Given the description of an element on the screen output the (x, y) to click on. 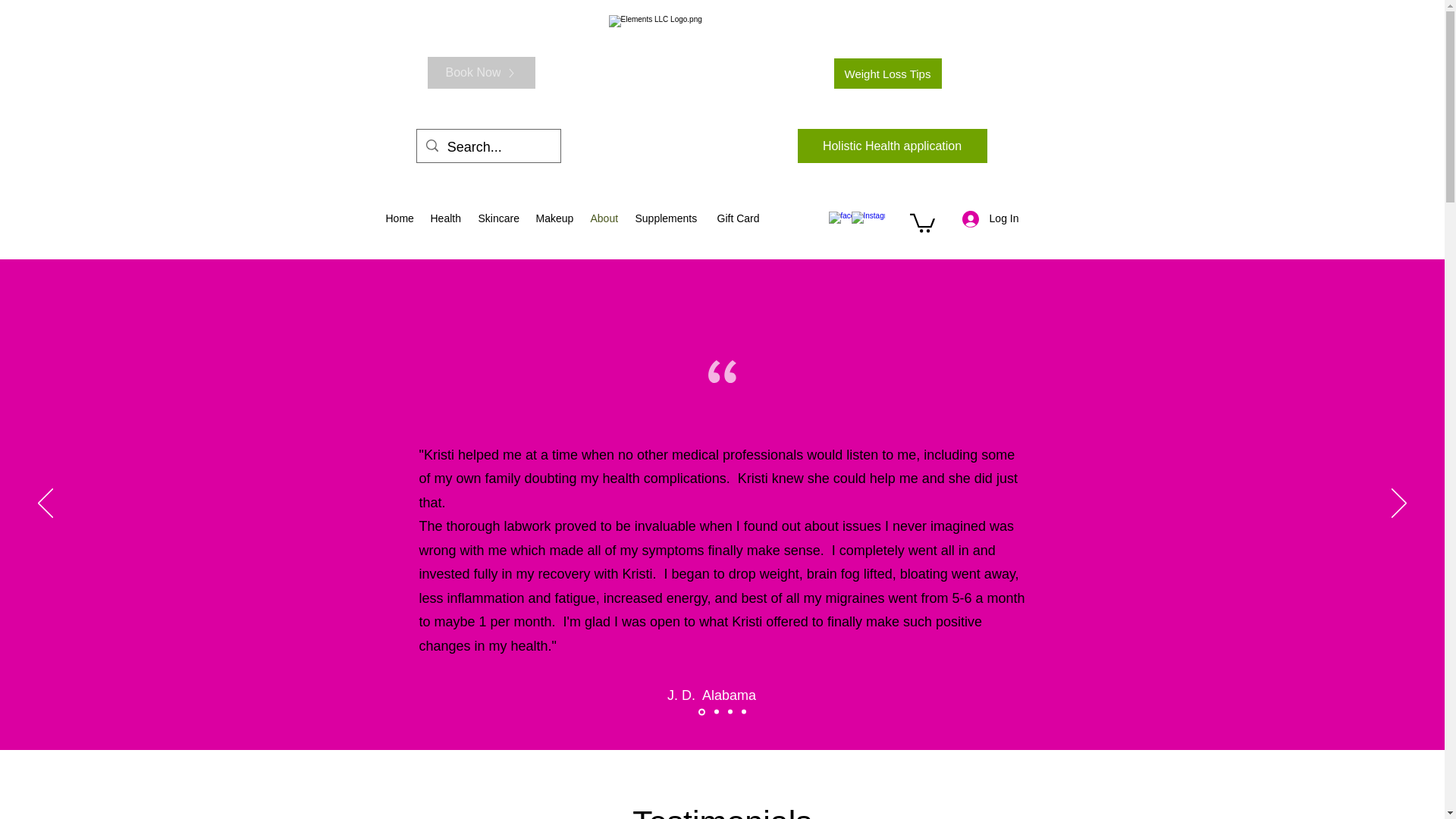
About (604, 218)
Supplements (668, 218)
Weight Loss Tips (888, 73)
Makeup (554, 218)
Health (446, 218)
Book Now (481, 72)
Gift Card (740, 218)
Home (399, 218)
Holistic Health application (892, 145)
Log In (990, 218)
